Given the description of an element on the screen output the (x, y) to click on. 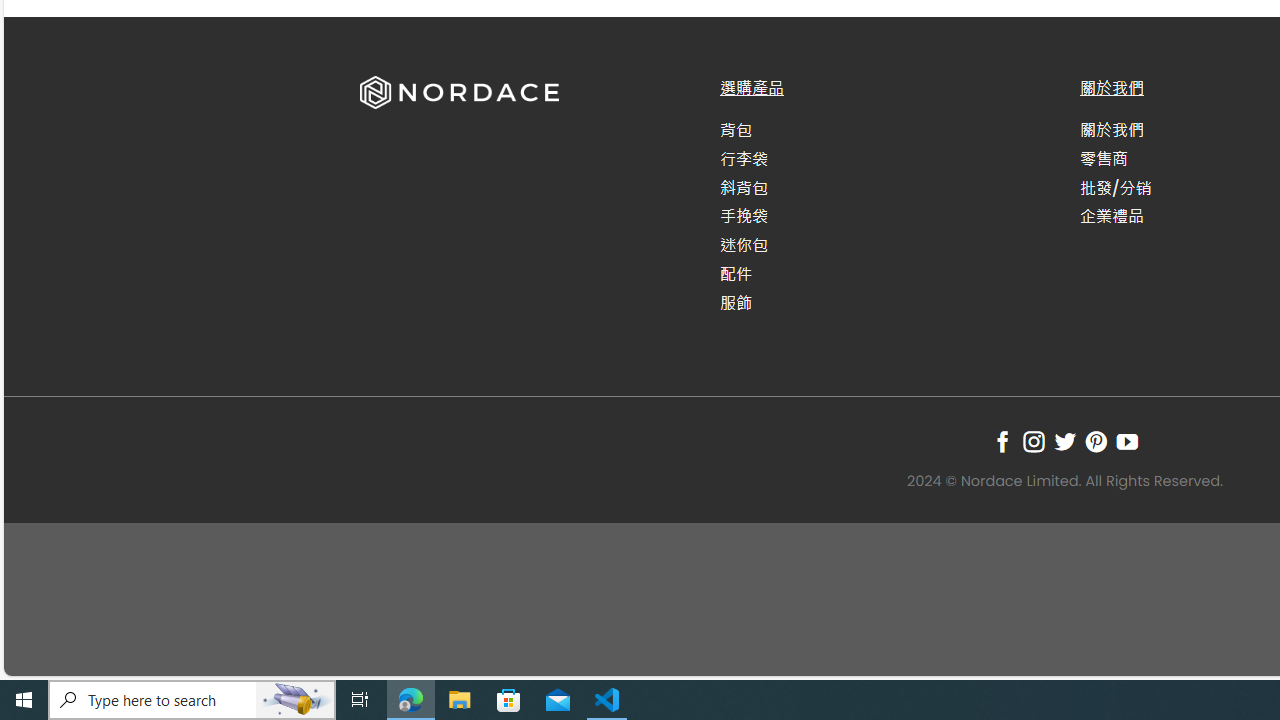
Follow on Twitter (1064, 441)
Follow on Instagram (1033, 441)
Follow on Facebook (1002, 441)
Follow on YouTube (1126, 441)
